Given the description of an element on the screen output the (x, y) to click on. 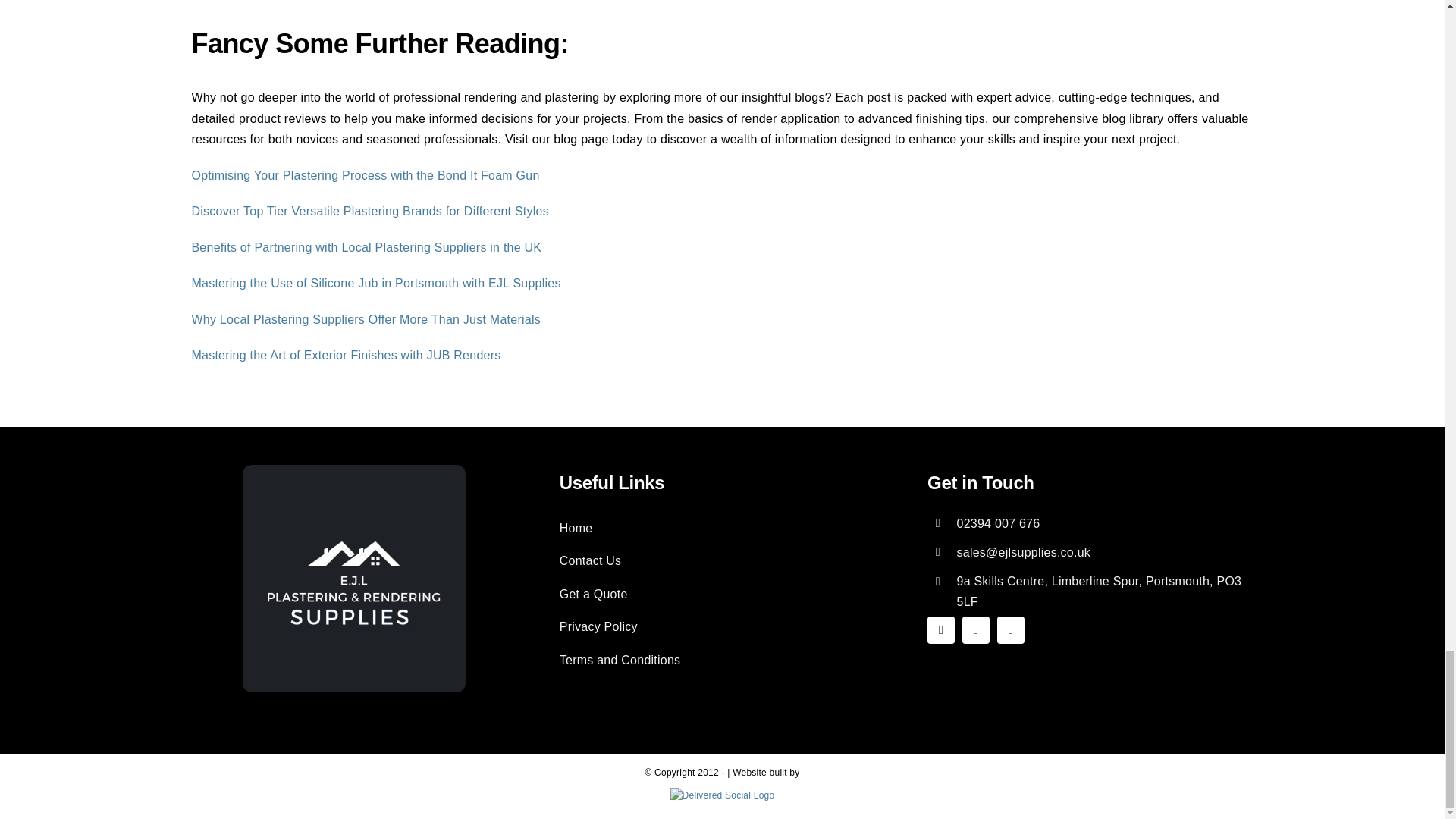
LinkedIn (1011, 629)
Instagram (976, 629)
Optimising Your Plastering Process with the Bond It Foam Gun (364, 174)
Facebook (941, 629)
Mastering the Art of Exterior Finishes with JUB Renders (345, 354)
